Given the description of an element on the screen output the (x, y) to click on. 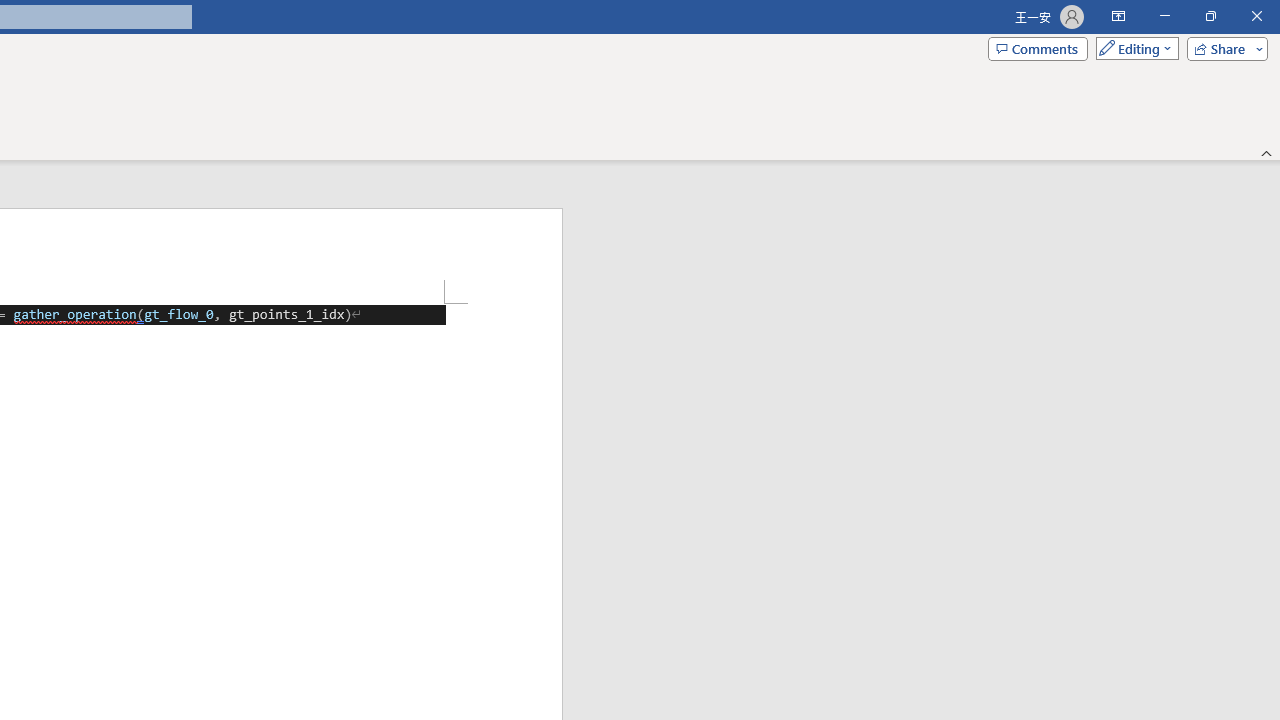
Close (1256, 16)
Restore Down (1210, 16)
Minimize (1164, 16)
Ribbon Display Options (1118, 16)
Comments (1038, 48)
Share (1223, 48)
Mode (1133, 47)
Collapse the Ribbon (1267, 152)
